Given the description of an element on the screen output the (x, y) to click on. 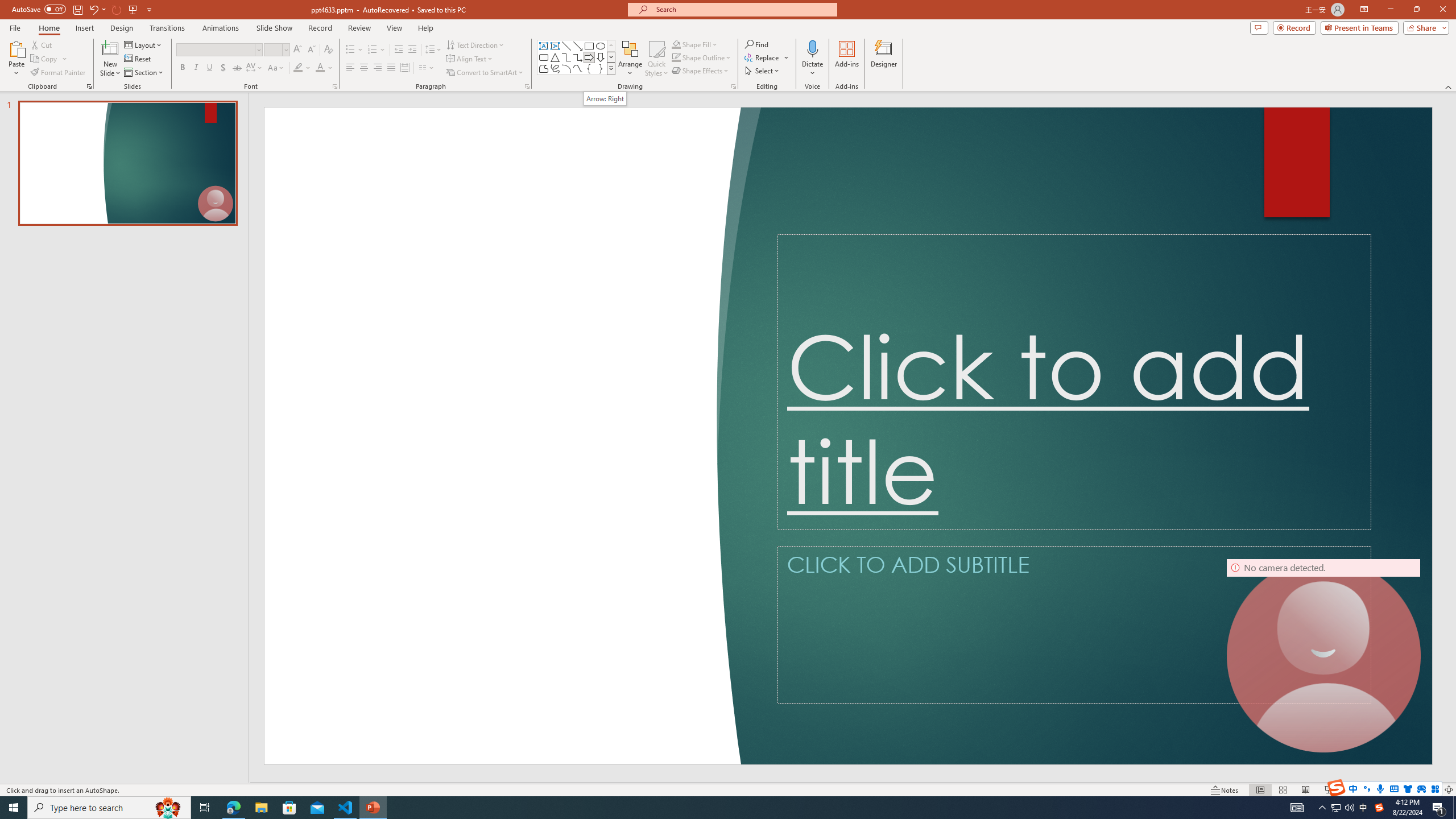
Increase Font Size (297, 49)
Decrease Font Size (310, 49)
Arrow: Right (604, 98)
Right Brace (600, 68)
Isosceles Triangle (554, 57)
Distributed (404, 67)
Line Arrow (577, 45)
Connector: Elbow (566, 57)
Text Direction (476, 44)
Find... (756, 44)
Strikethrough (237, 67)
